Given the description of an element on the screen output the (x, y) to click on. 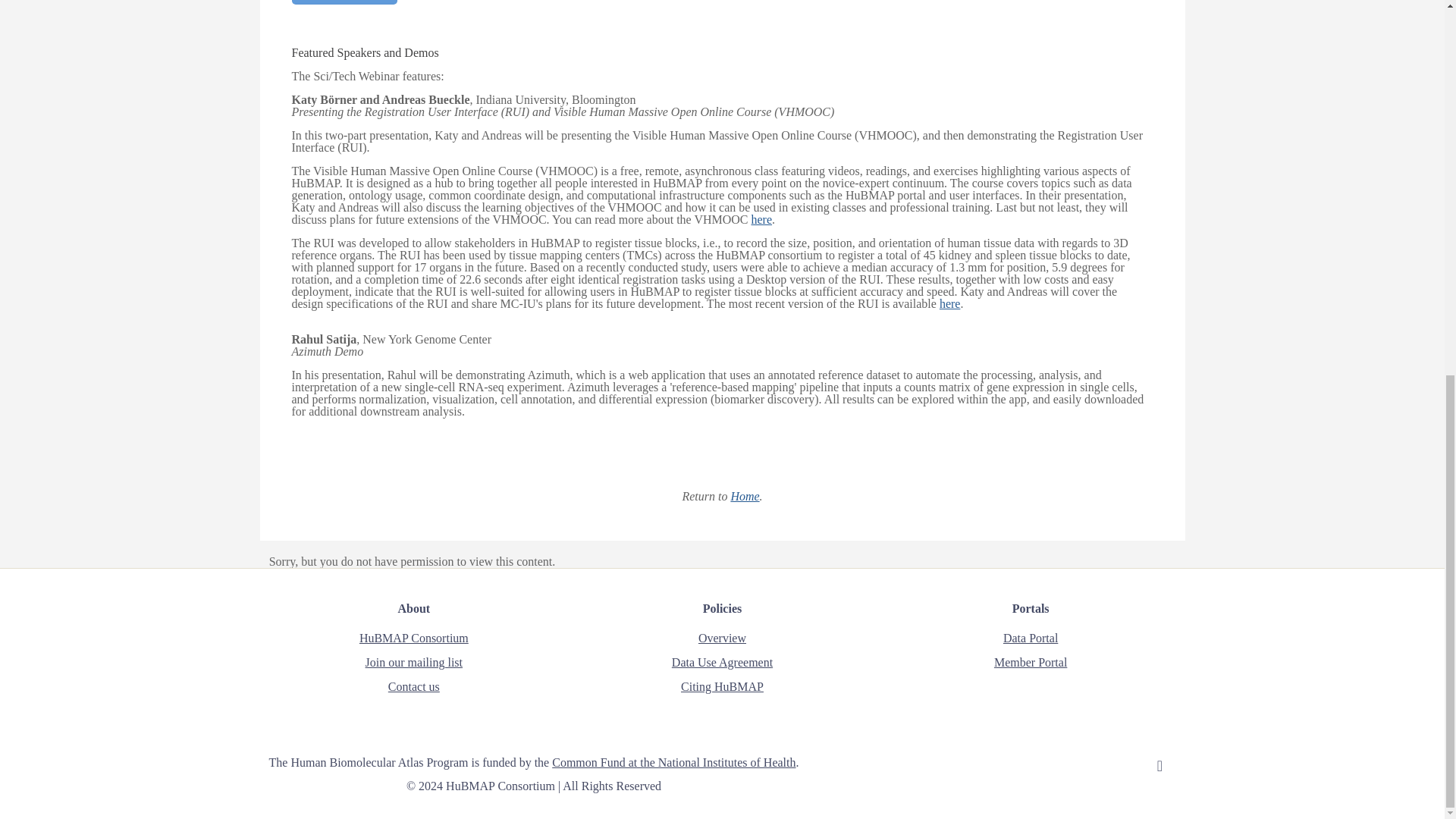
YouTube (1121, 762)
here (949, 303)
Watch now (343, 2)
here (761, 219)
Home (744, 495)
Join our mailing list (414, 662)
HuBMAP Consortium (413, 637)
Twitter (1100, 762)
